Given the description of an element on the screen output the (x, y) to click on. 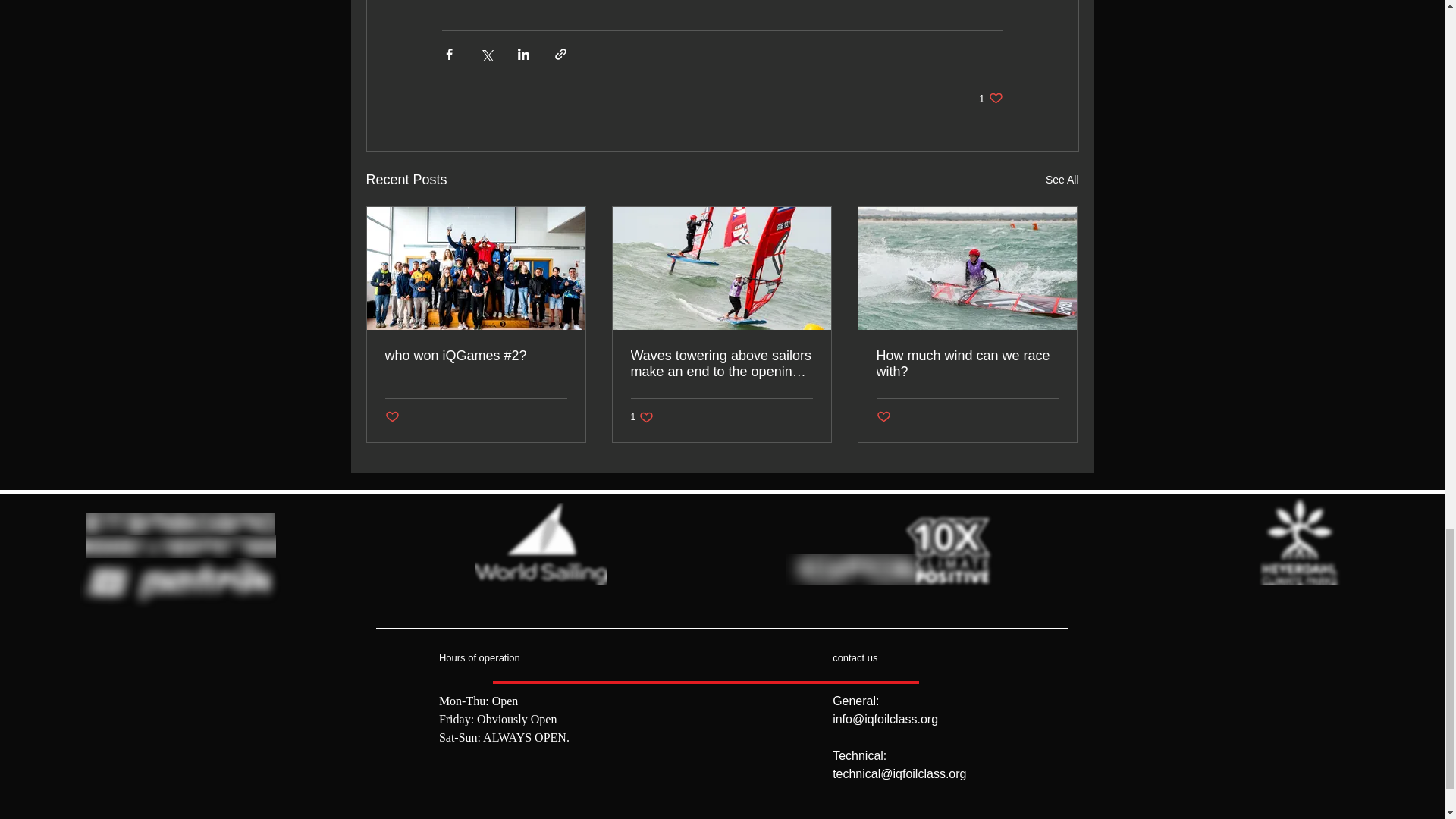
Post not marked as liked (990, 97)
See All (391, 417)
